Given the description of an element on the screen output the (x, y) to click on. 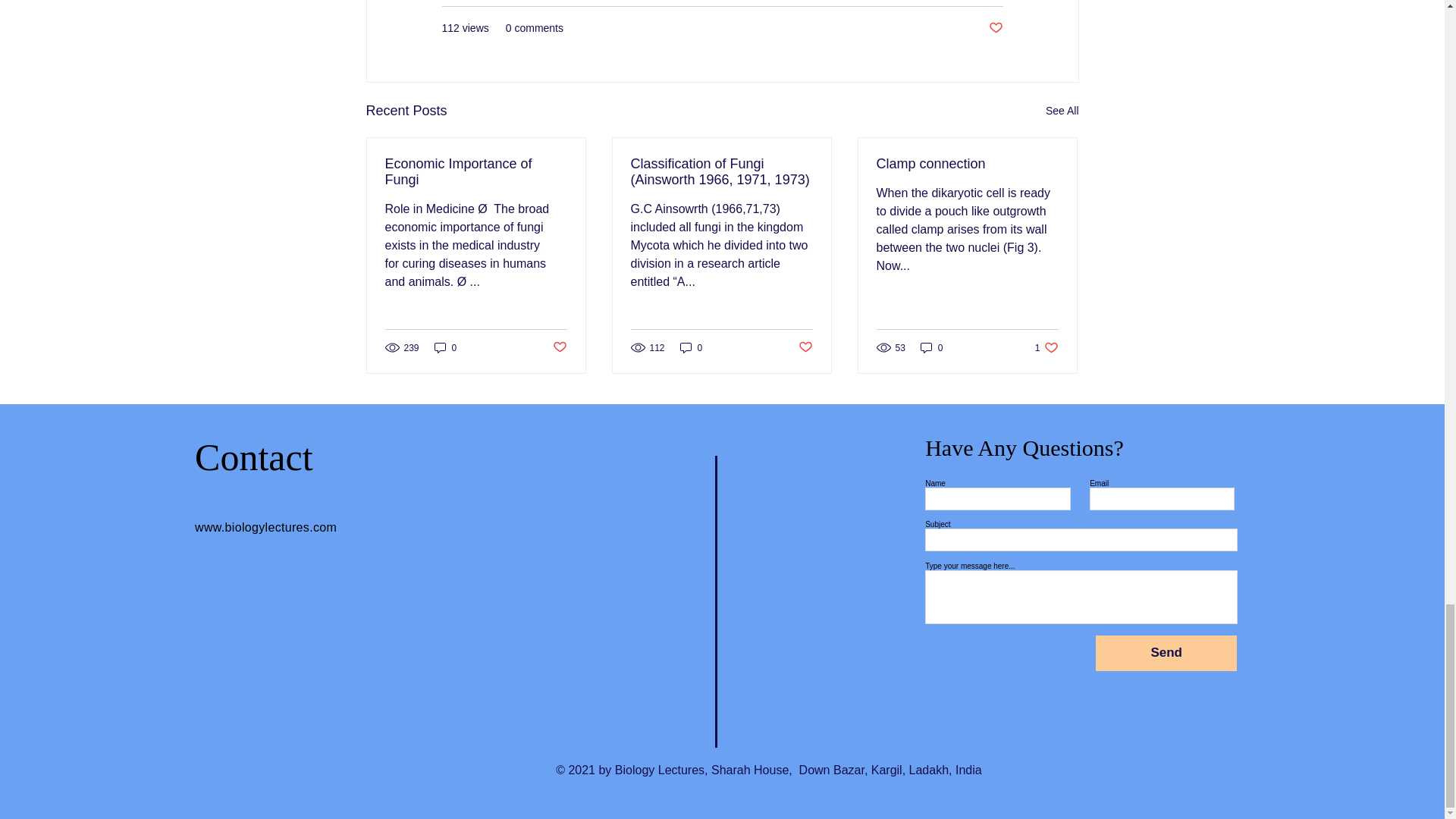
0 (445, 347)
Post not marked as liked (995, 28)
0 (691, 347)
0 (931, 347)
Economic Importance of Fungi (476, 172)
Post not marked as liked (804, 347)
Clamp connection (967, 163)
See All (1061, 110)
www.biologylectures.com (265, 526)
Post not marked as liked (558, 347)
